Given the description of an element on the screen output the (x, y) to click on. 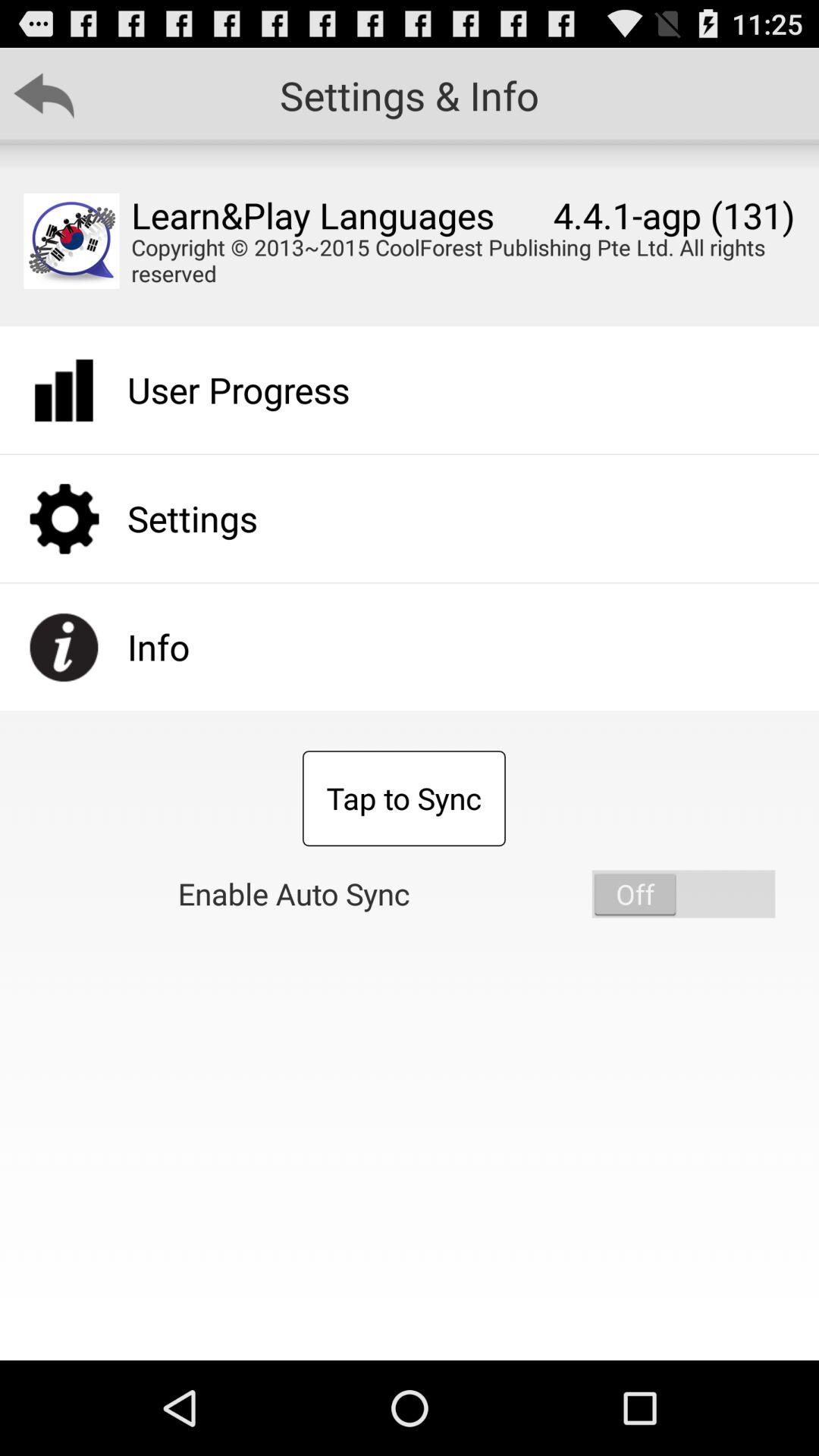
click the icon above the settings icon (238, 389)
